Given the description of an element on the screen output the (x, y) to click on. 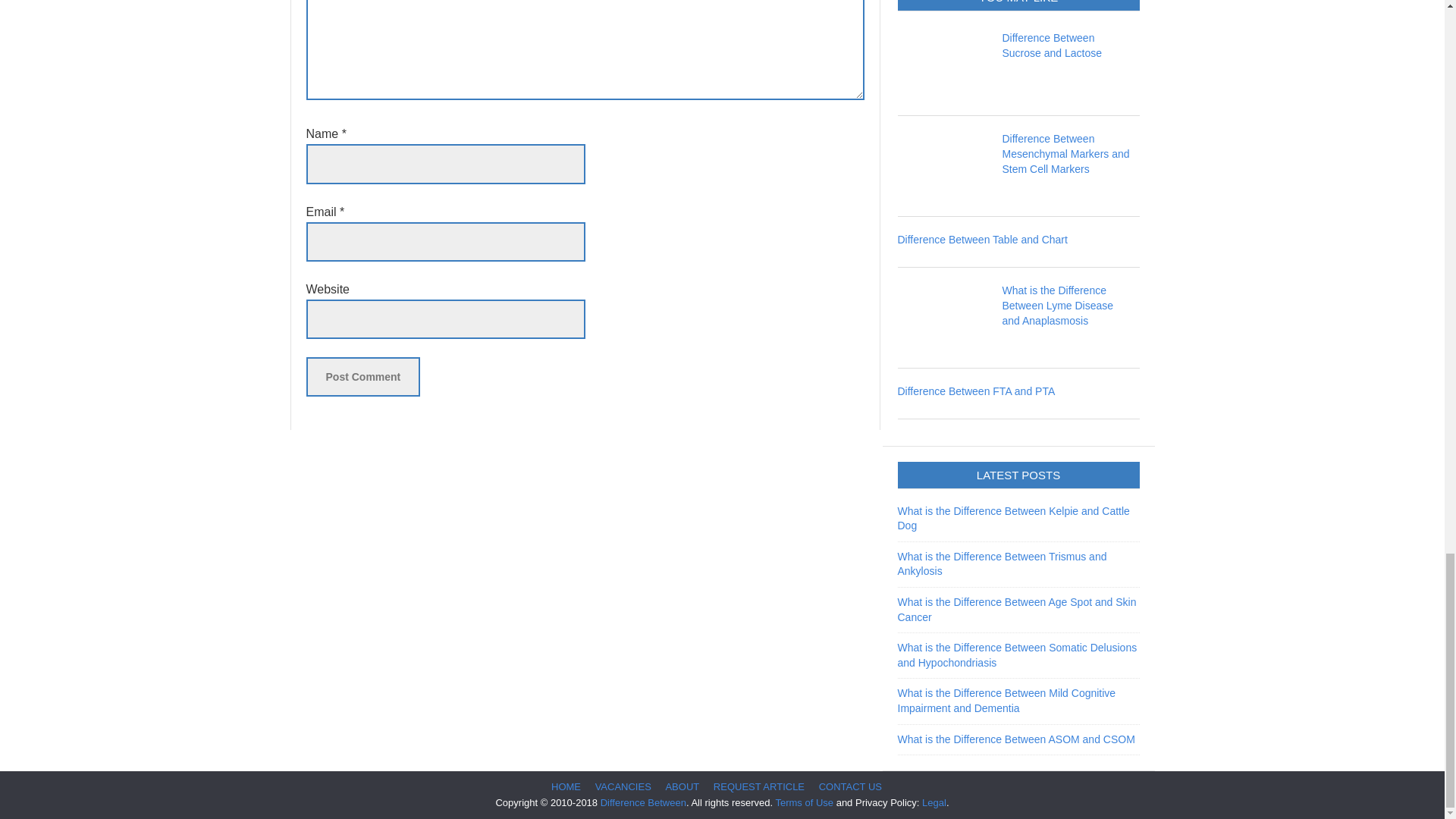
Difference Between Sucrose and Lactose (1052, 44)
Post Comment (362, 376)
Difference Between Mesenchymal Markers and Stem Cell Markers (1066, 153)
Difference Between Table and Chart (982, 239)
Post Comment (362, 376)
